Given the description of an element on the screen output the (x, y) to click on. 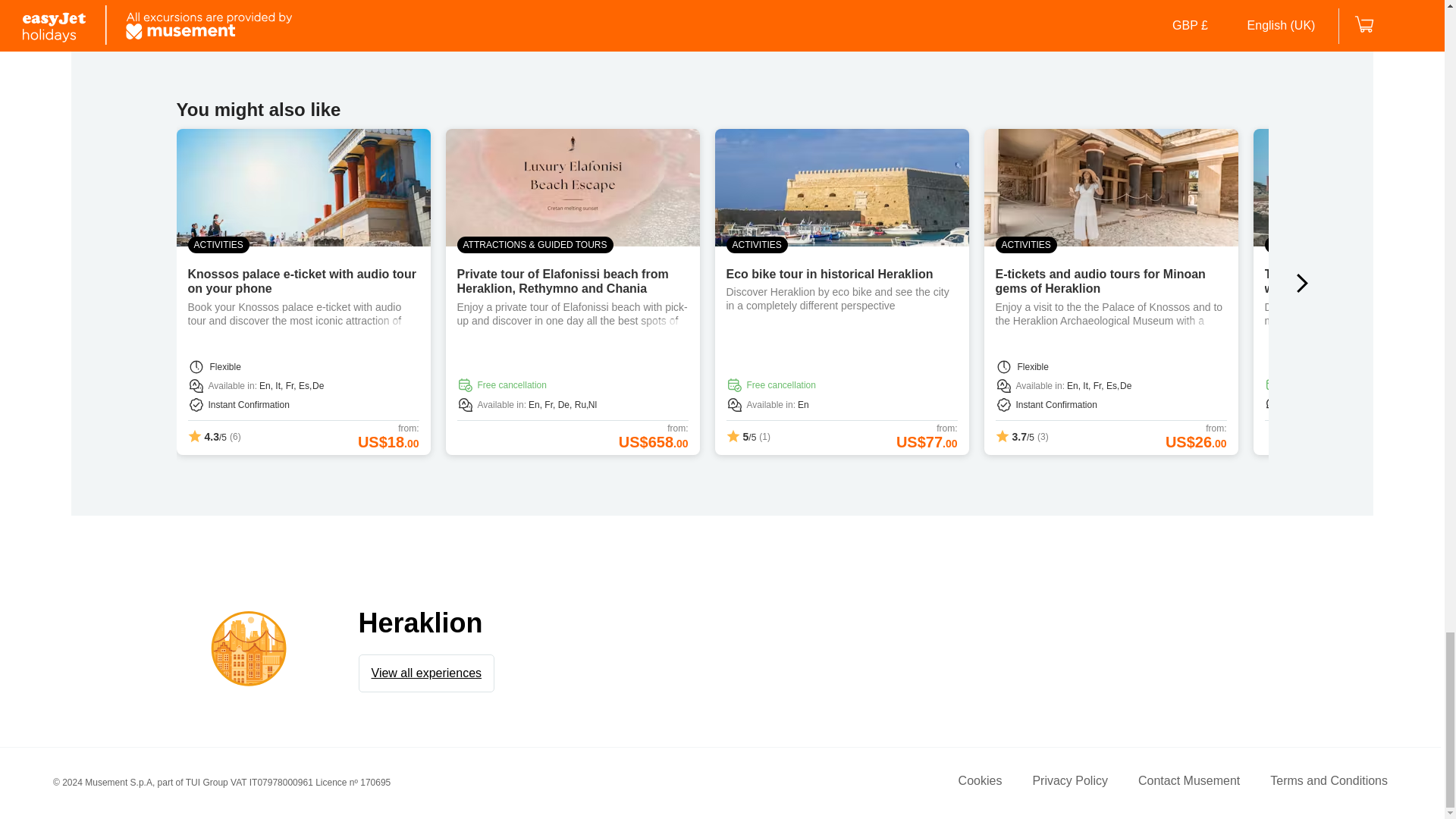
Cookies (980, 782)
Privacy Policy (1070, 782)
Knossos palace e-ticket with audio tour on your phone (301, 280)
Eco bike tour in historical Heraklion (829, 273)
E-tickets and audio tours for Minoan gems of Heraklion (1099, 280)
Contact Musement (1189, 782)
Terms and Conditions (1328, 782)
View all experiences (426, 673)
